Given the description of an element on the screen output the (x, y) to click on. 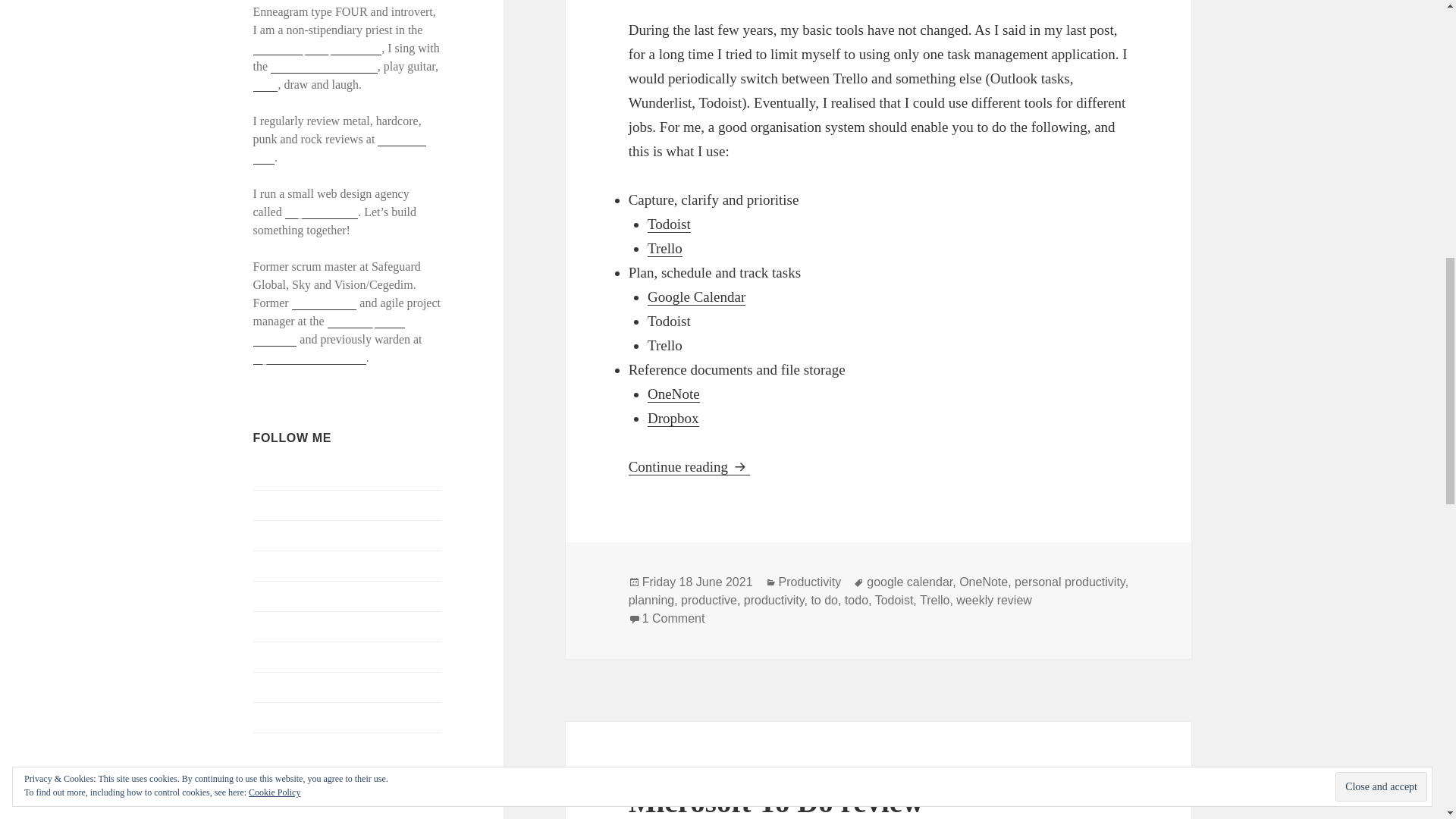
Scribd (269, 656)
Instagram (277, 564)
Facebook (276, 504)
Slideshare (278, 686)
GitHub (271, 534)
web architect (324, 303)
Scottish Episcopal Church (317, 48)
NYCGB alumni choir (323, 66)
write (265, 84)
LinkedIn (275, 594)
University of St Andrews (328, 330)
Agnes Blackadder Hall (309, 357)
Bluesky (272, 473)
Digital Shed45 (321, 212)
SoundCloud (283, 716)
